Given the description of an element on the screen output the (x, y) to click on. 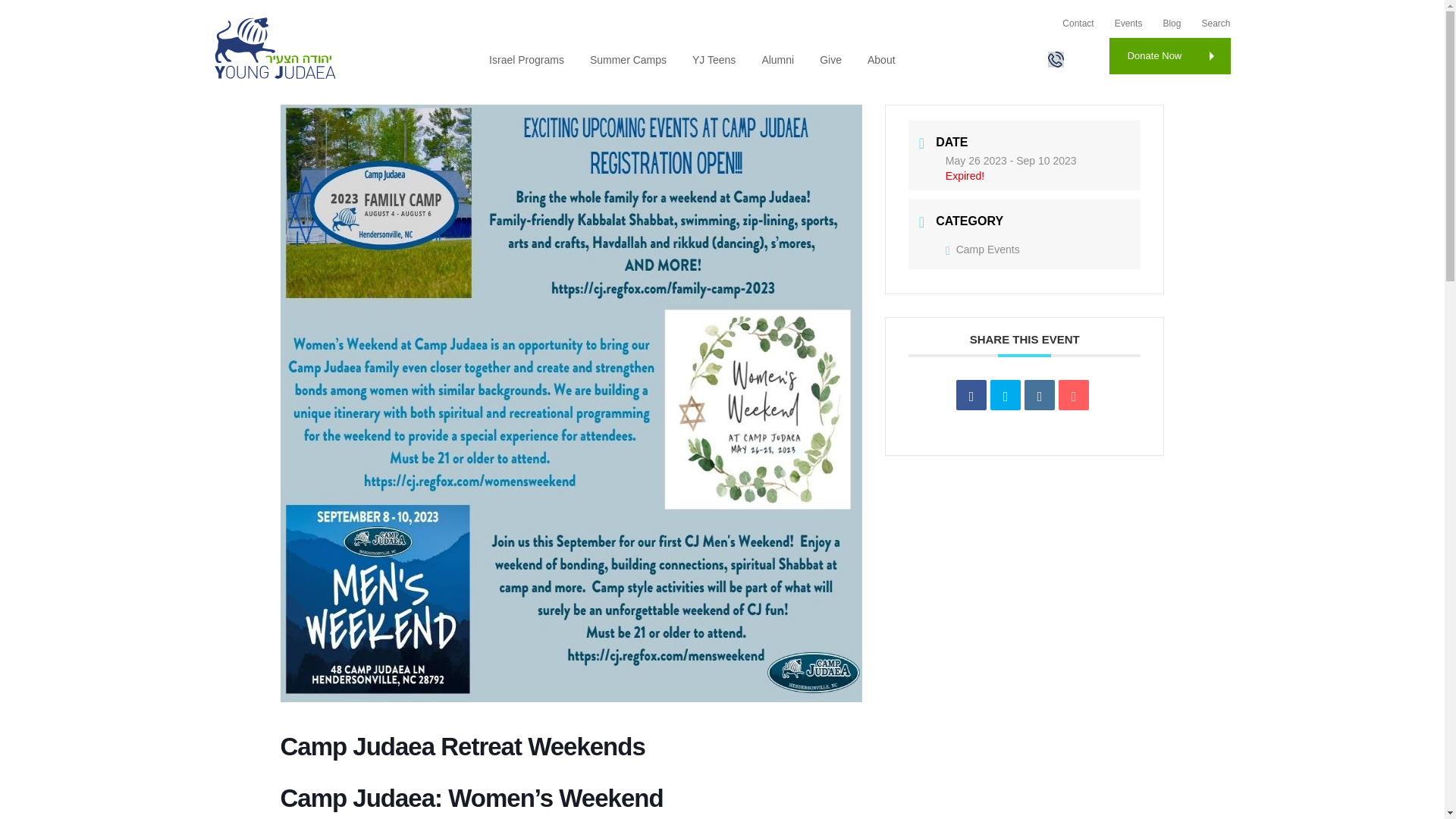
Summer Camps (627, 60)
Share on Facebook (971, 395)
Search (1215, 23)
Email (1073, 395)
Israel Programs (526, 60)
Donate Now (1169, 55)
Linkedin (1039, 395)
Tweet (1005, 395)
